Given the description of an element on the screen output the (x, y) to click on. 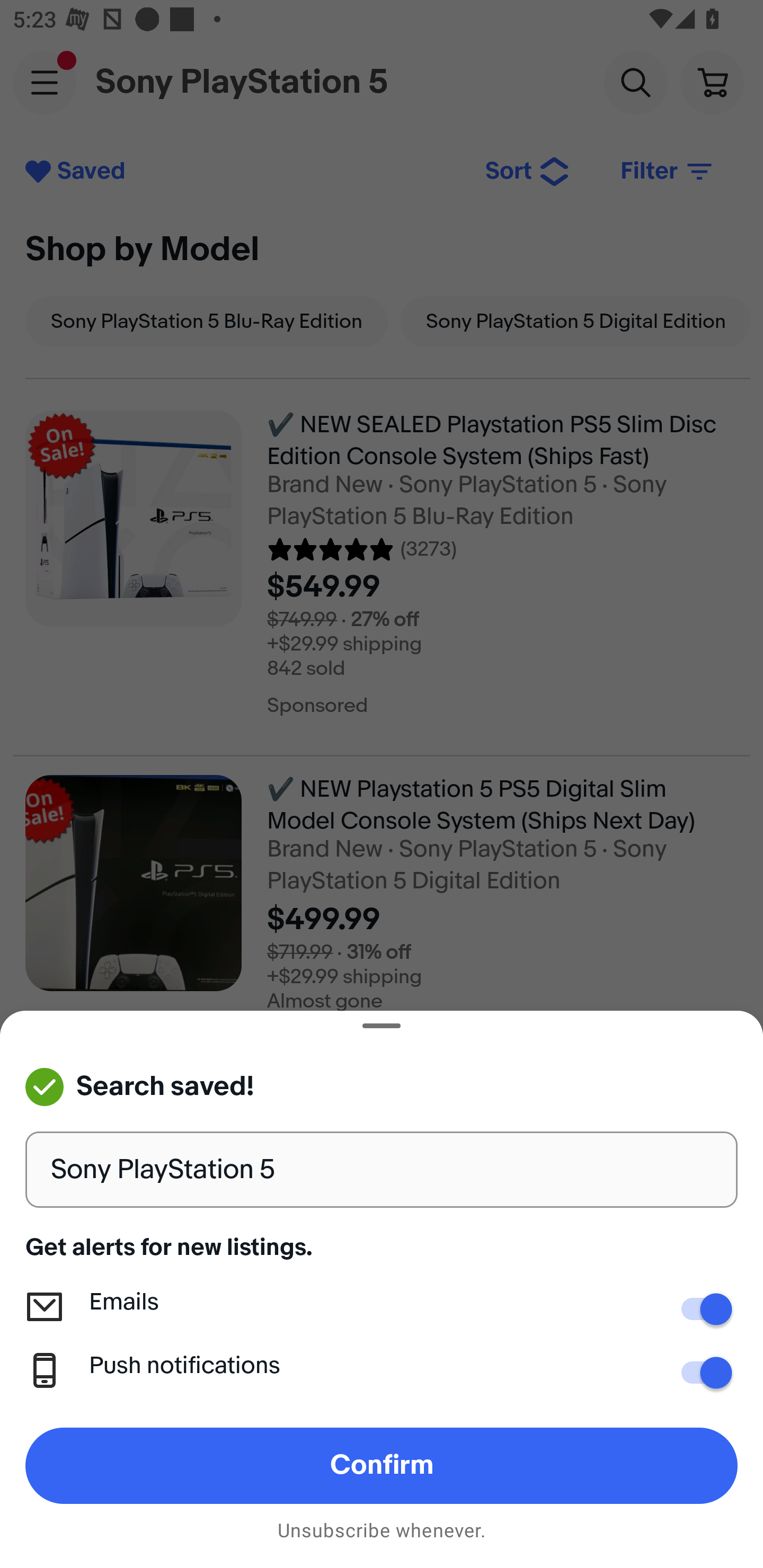
Emails (700, 1309)
Push notifications (700, 1372)
Confirm (381, 1464)
